Given the description of an element on the screen output the (x, y) to click on. 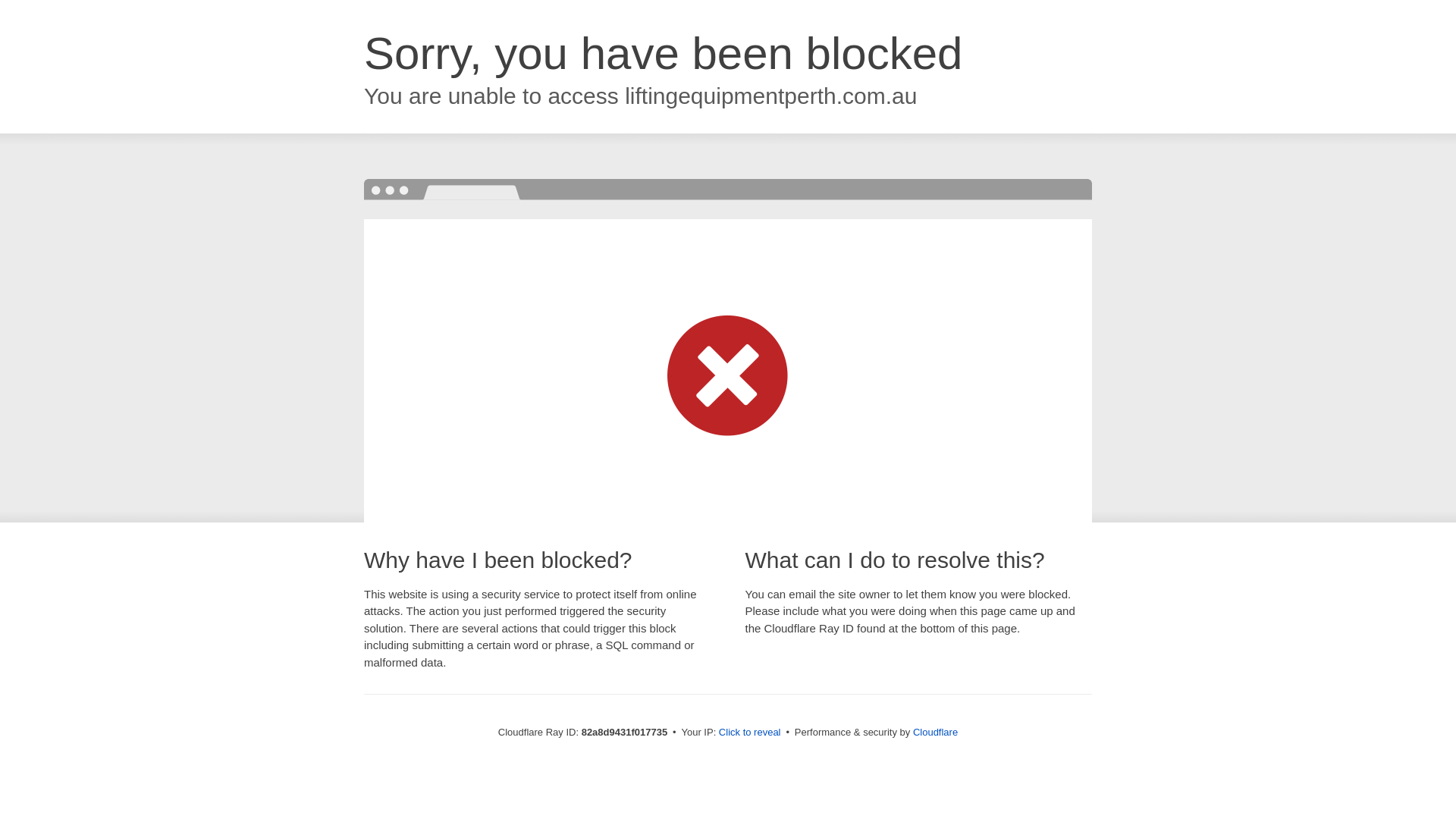
Cloudflare Element type: text (935, 731)
Click to reveal Element type: text (749, 732)
